Given the description of an element on the screen output the (x, y) to click on. 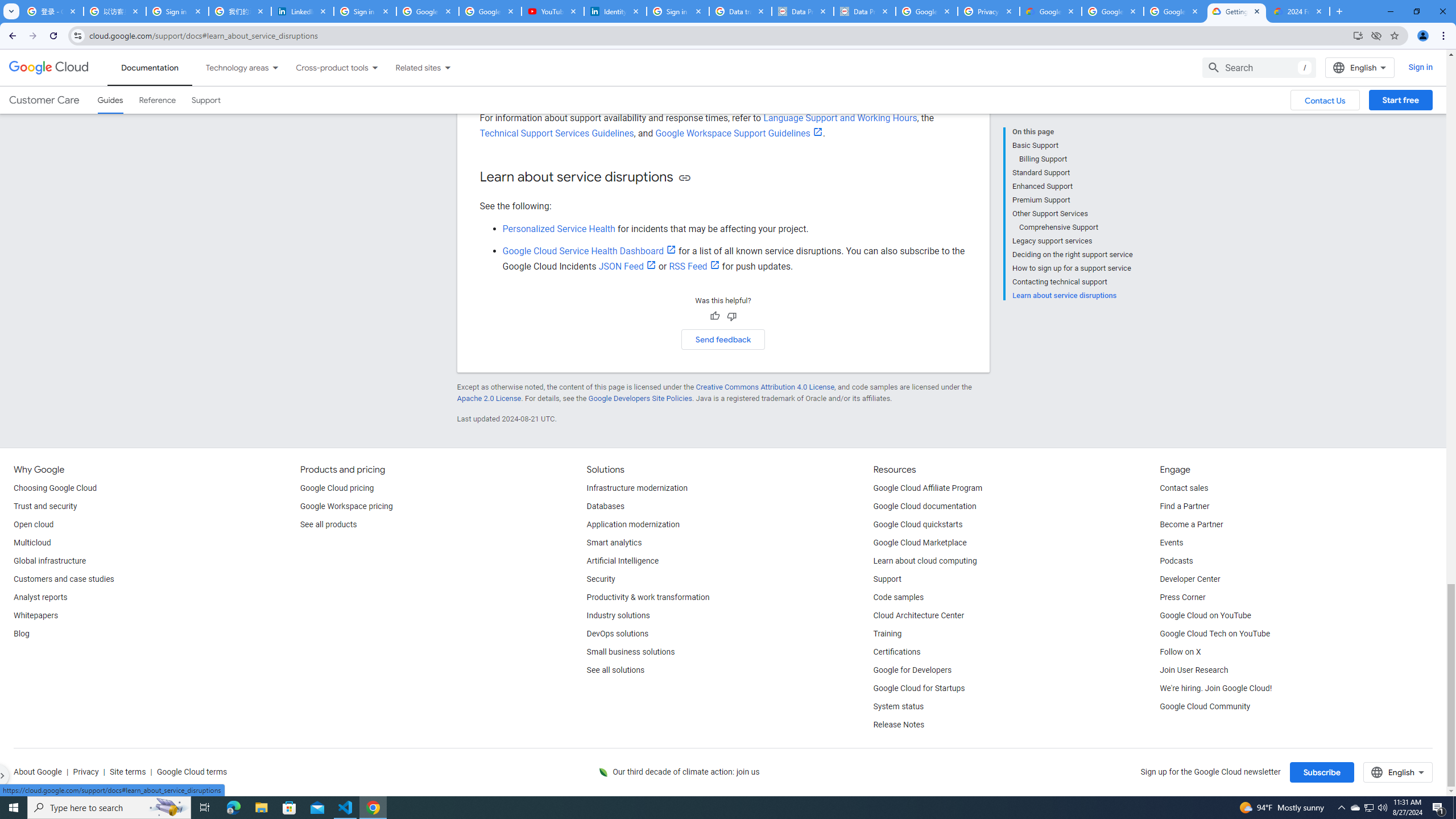
Dropdown menu for Technology areas (274, 67)
Google Cloud Terms Directory | Google Cloud (1050, 11)
Comprehensive Support (1075, 227)
Data Privacy Framework (864, 11)
Basic Support (1071, 145)
Certifications (896, 651)
RSS Feed (694, 266)
Become a Partner (1190, 524)
Code samples (898, 597)
Smart analytics (614, 542)
Language Support and Working Hours (839, 118)
Training (887, 633)
